Given the description of an element on the screen output the (x, y) to click on. 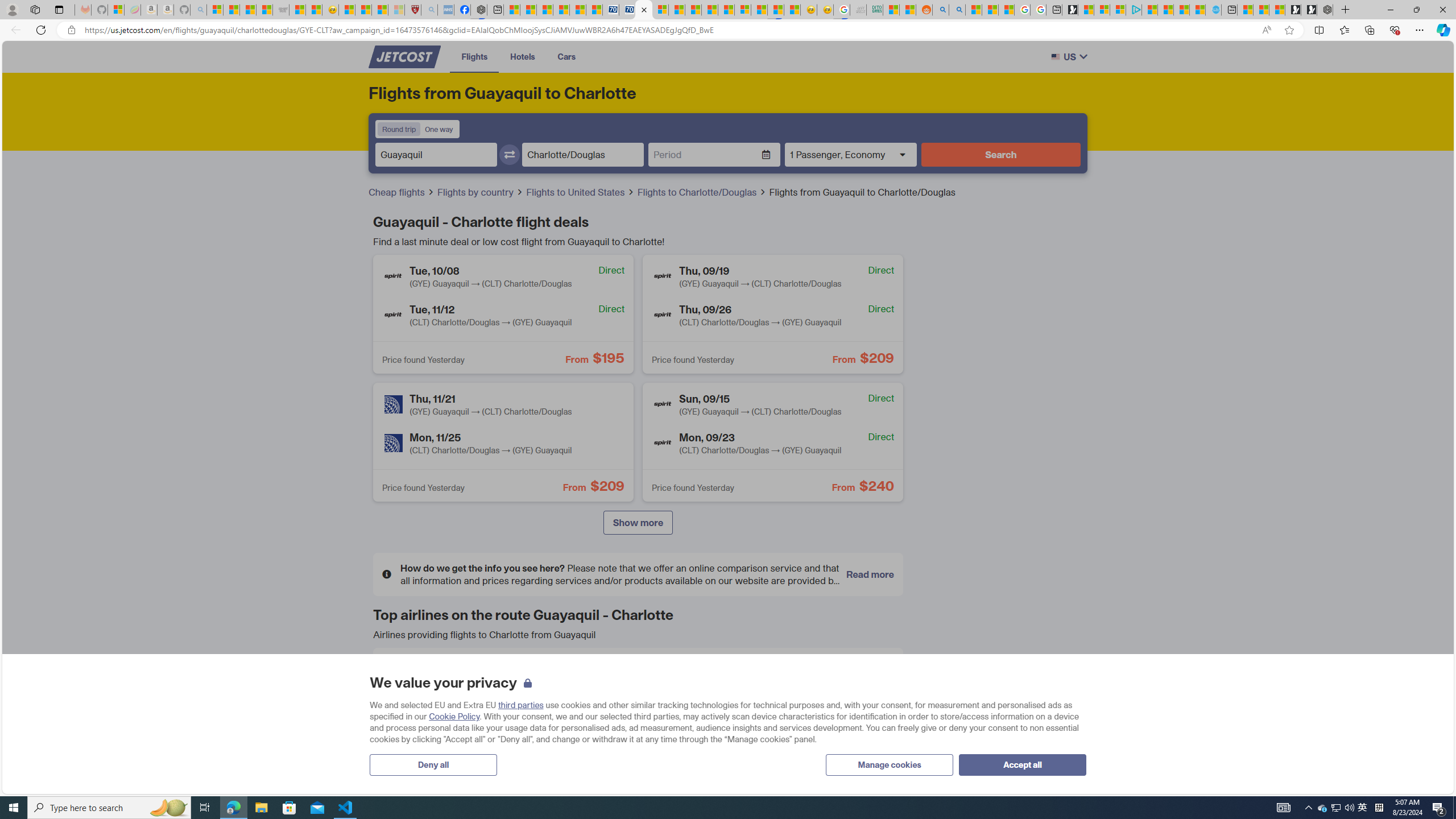
DELTA DELTA (465, 716)
Manage cookies (889, 764)
Flights by country (480, 191)
Cheap flights (397, 191)
American Airlines American Airlines (465, 675)
Spirit Airlines (744, 715)
